Given the description of an element on the screen output the (x, y) to click on. 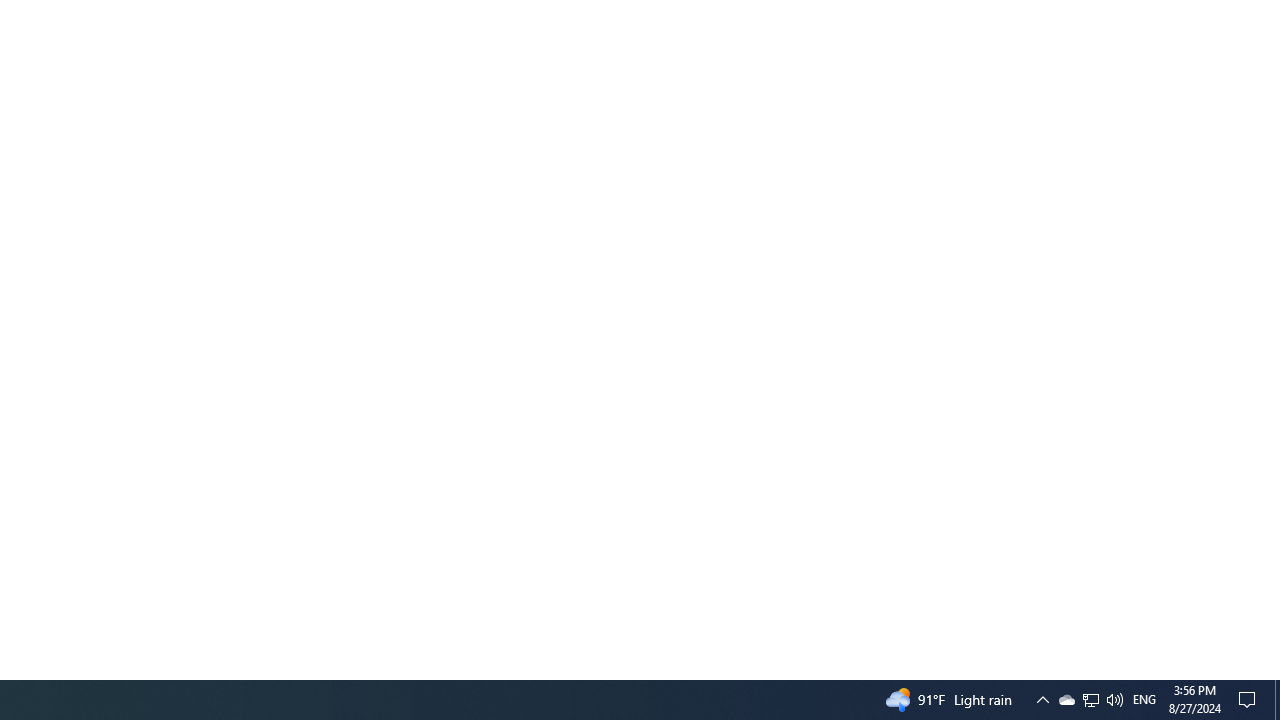
Notification Chevron (1042, 699)
Q2790: 100% (1114, 699)
Show desktop (1277, 699)
User Promoted Notification Area (1066, 699)
Tray Input Indicator - English (United States) (1090, 699)
Action Center, No new notifications (1091, 699)
